Given the description of an element on the screen output the (x, y) to click on. 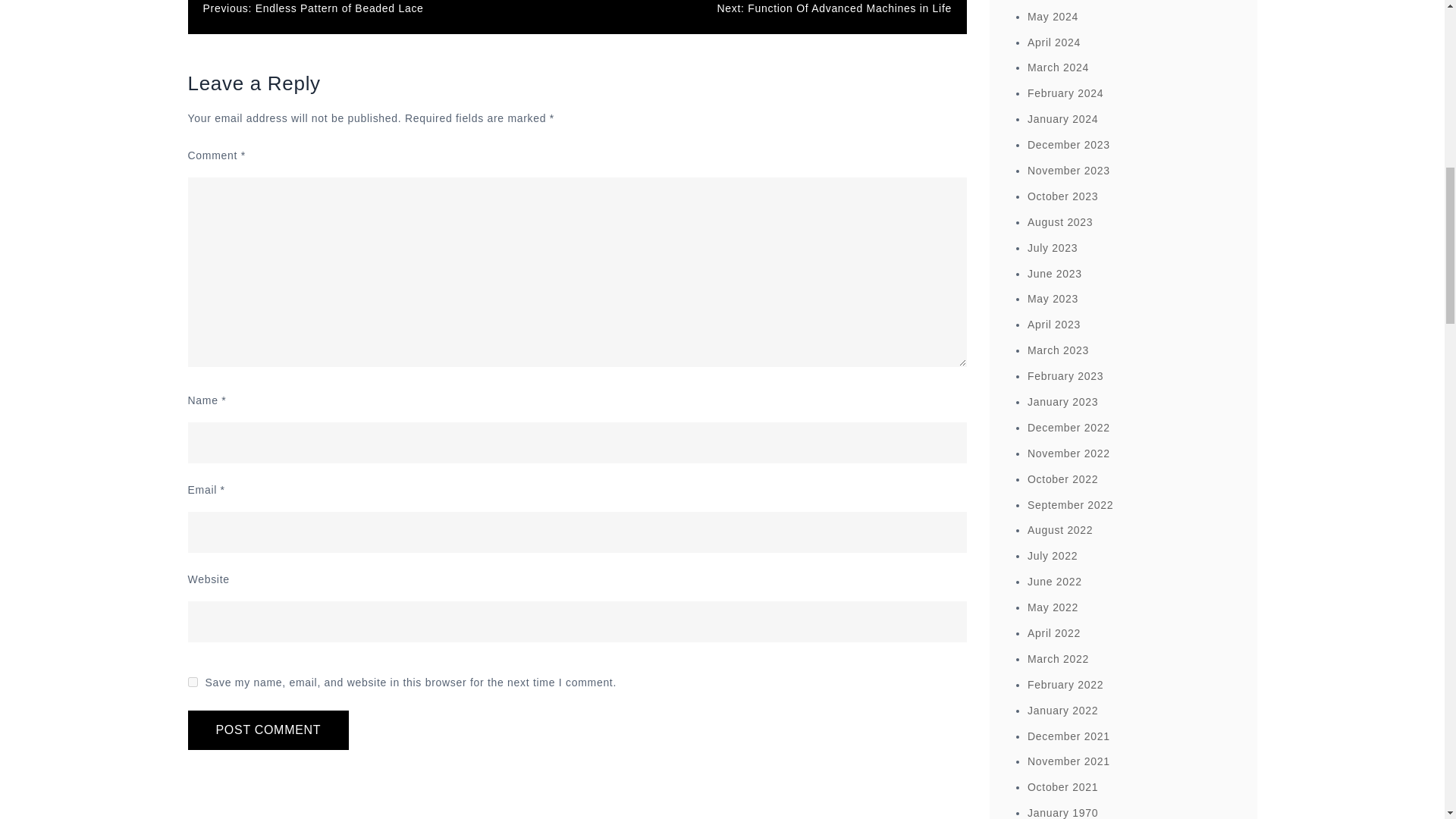
February 2023 (1065, 376)
December 2022 (1068, 427)
April 2023 (1053, 324)
March 2023 (1058, 349)
August 2023 (1060, 222)
Post Comment (268, 730)
June 2023 (1054, 273)
May 2024 (1052, 16)
October 2023 (1062, 196)
Previous: Endless Pattern of Beaded Lace (313, 8)
May 2023 (1052, 298)
October 2022 (1062, 479)
April 2024 (1053, 42)
November 2023 (1068, 170)
November 2022 (1068, 453)
